Given the description of an element on the screen output the (x, y) to click on. 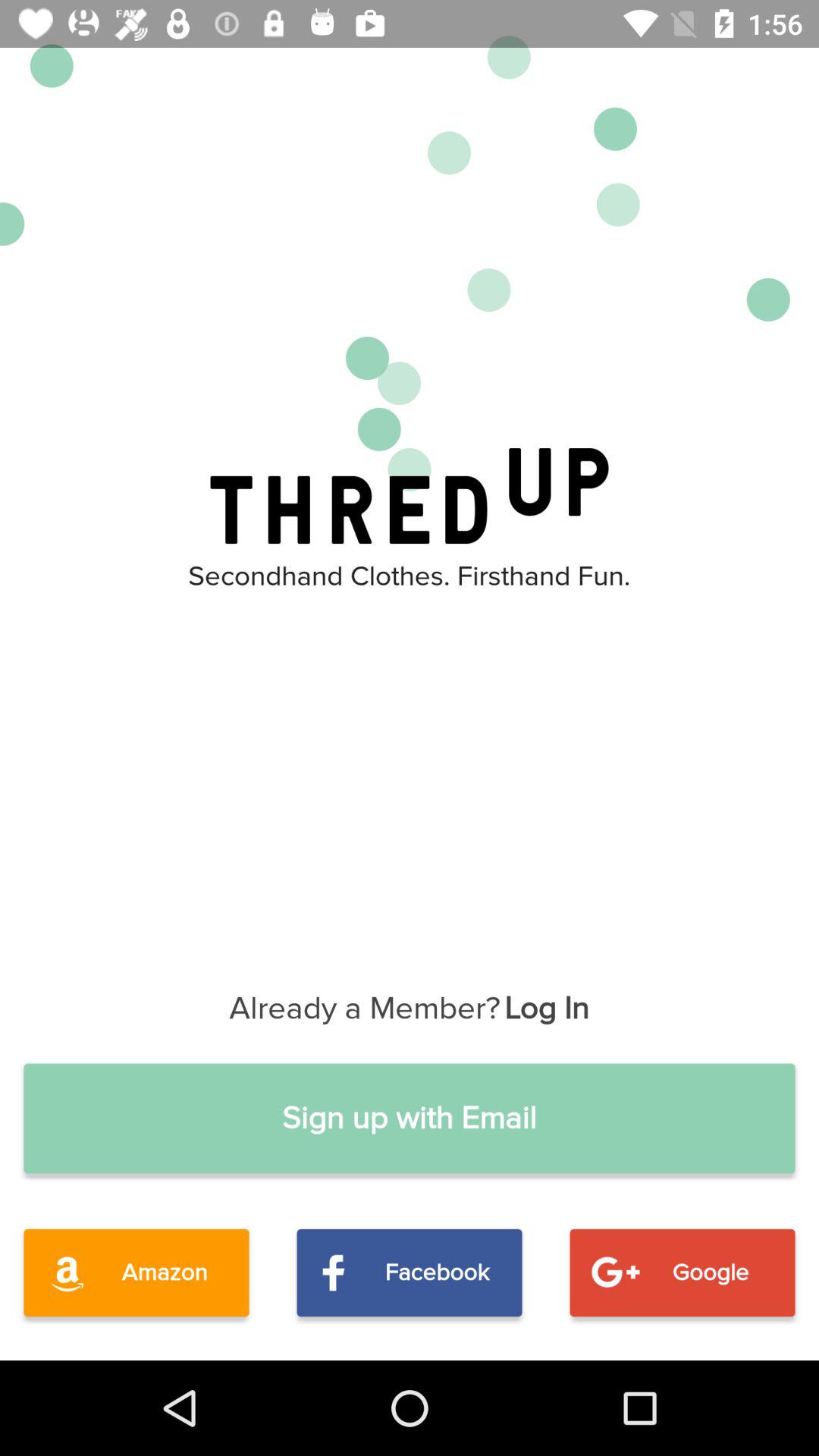
select app below the already a member? (409, 1118)
